Given the description of an element on the screen output the (x, y) to click on. 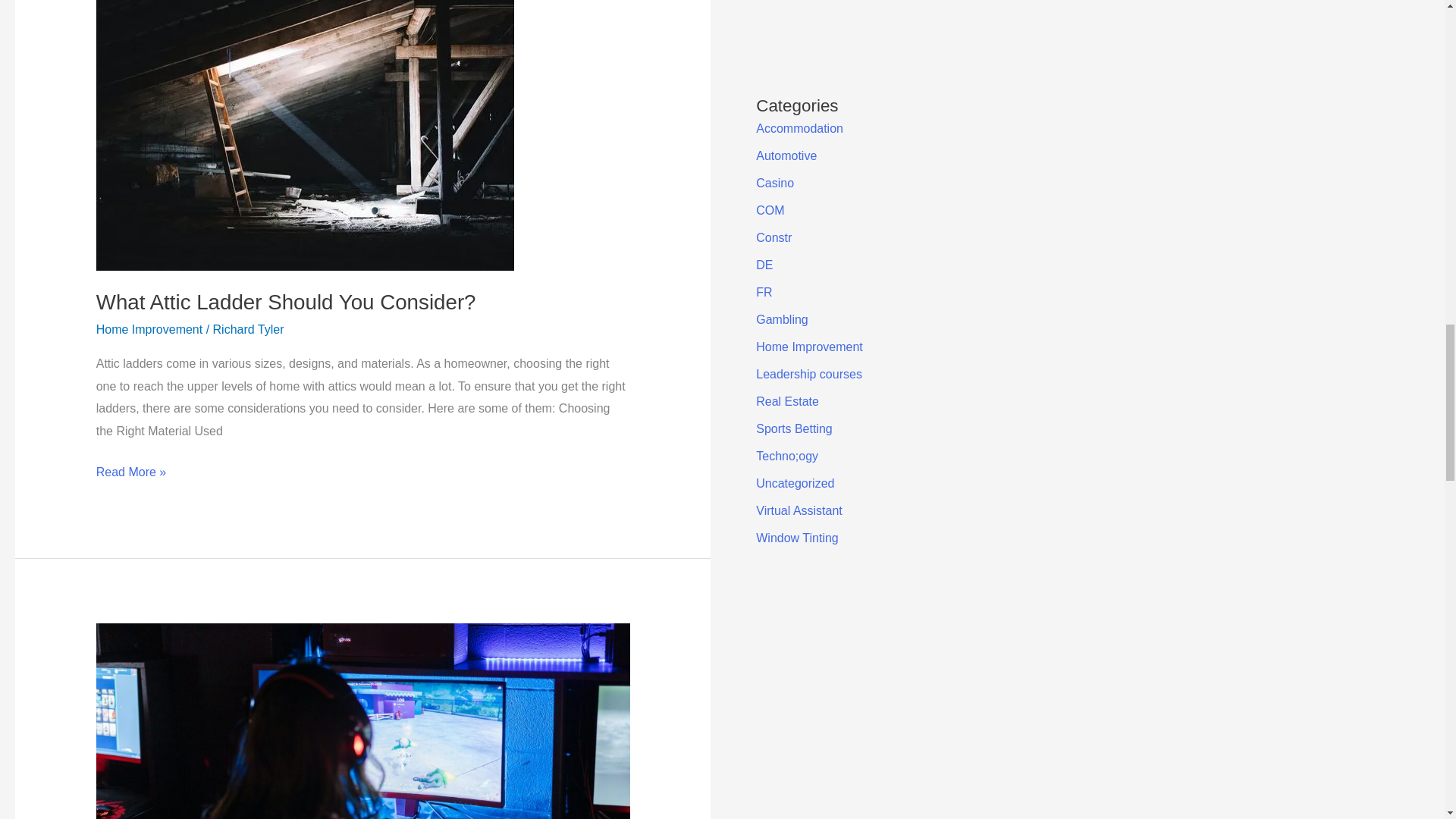
View all posts by Richard Tyler (247, 328)
What Attic Ladder Should You Consider? (286, 301)
Home Improvement (149, 328)
Richard Tyler (247, 328)
